Given the description of an element on the screen output the (x, y) to click on. 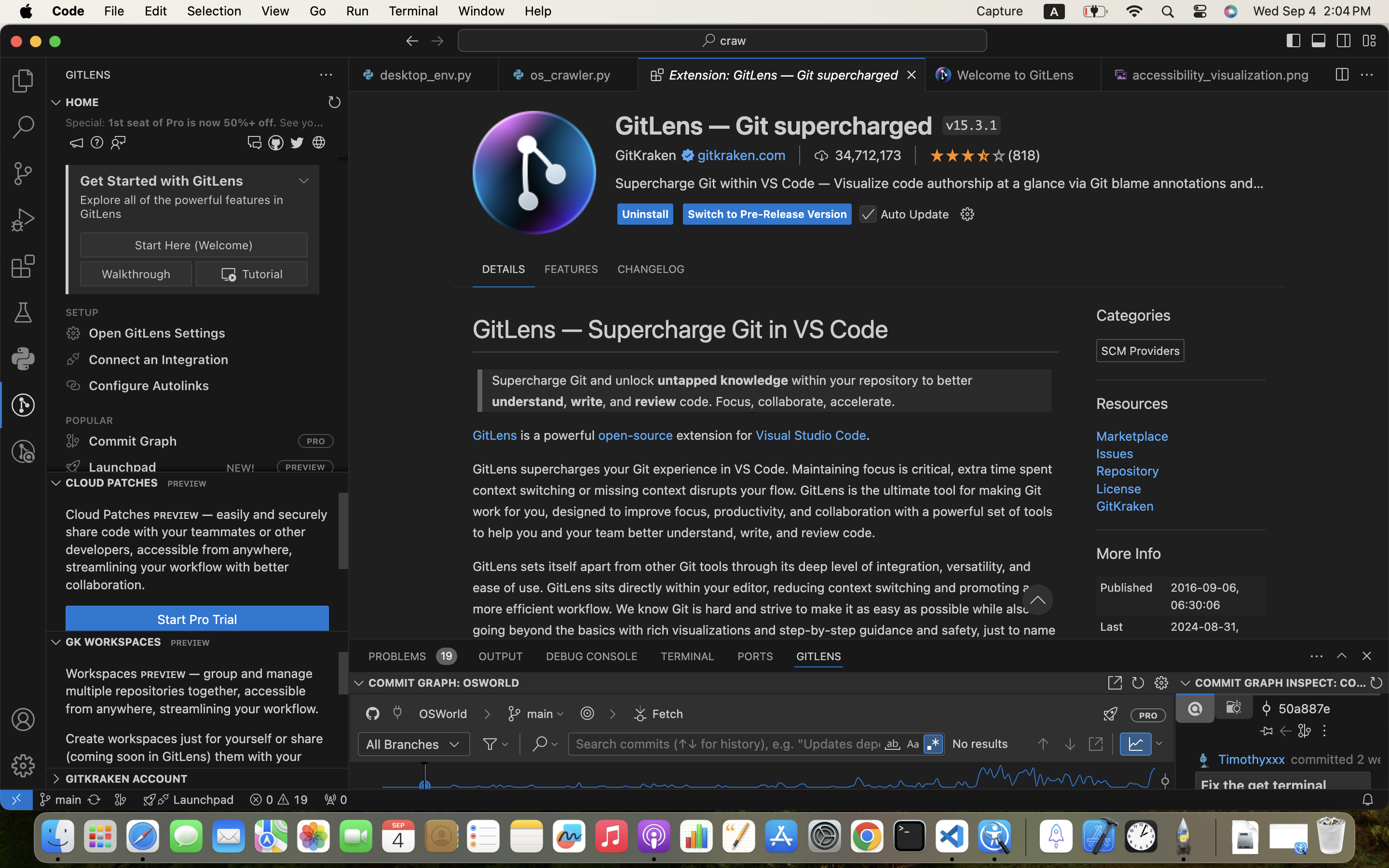
34,712,173  Element type: AXGroup (857, 154)
 Element type: AXStaticText (1053, 597)
0 desktop_env.py   Element type: AXRadioButton (424, 74)
0  Element type: AXRadioButton (23, 451)
trial or paid plan Element type: AXStaticText (911, 281)
